Given the description of an element on the screen output the (x, y) to click on. 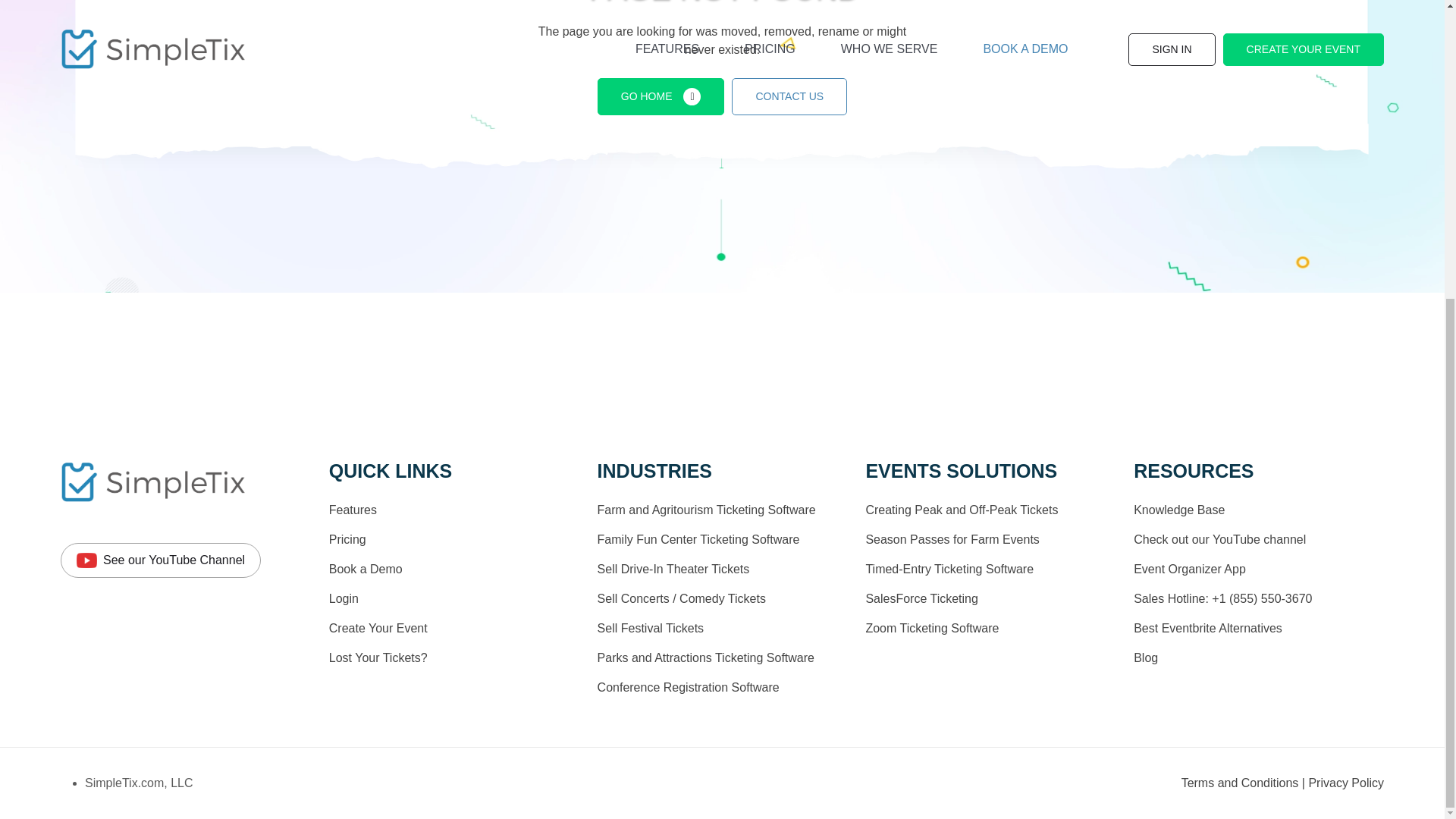
Event Organizer App (1190, 568)
CONTACT US (789, 96)
Conference Registration Software (687, 686)
SalesForce Ticketing (921, 598)
Timed-Entry Ticketing Software (948, 568)
Farm and Agritourism Ticketing Software (705, 509)
See our YouTube Channel (160, 560)
Creating Peak and Off-Peak Tickets (961, 509)
Family Fun Center Ticketing Software (697, 539)
Knowledge Base (1179, 509)
GO HOME (660, 96)
Features (353, 509)
Parks and Attractions Ticketing Software (704, 657)
Best Eventbrite Alternatives (1208, 627)
Pricing (347, 539)
